Given the description of an element on the screen output the (x, y) to click on. 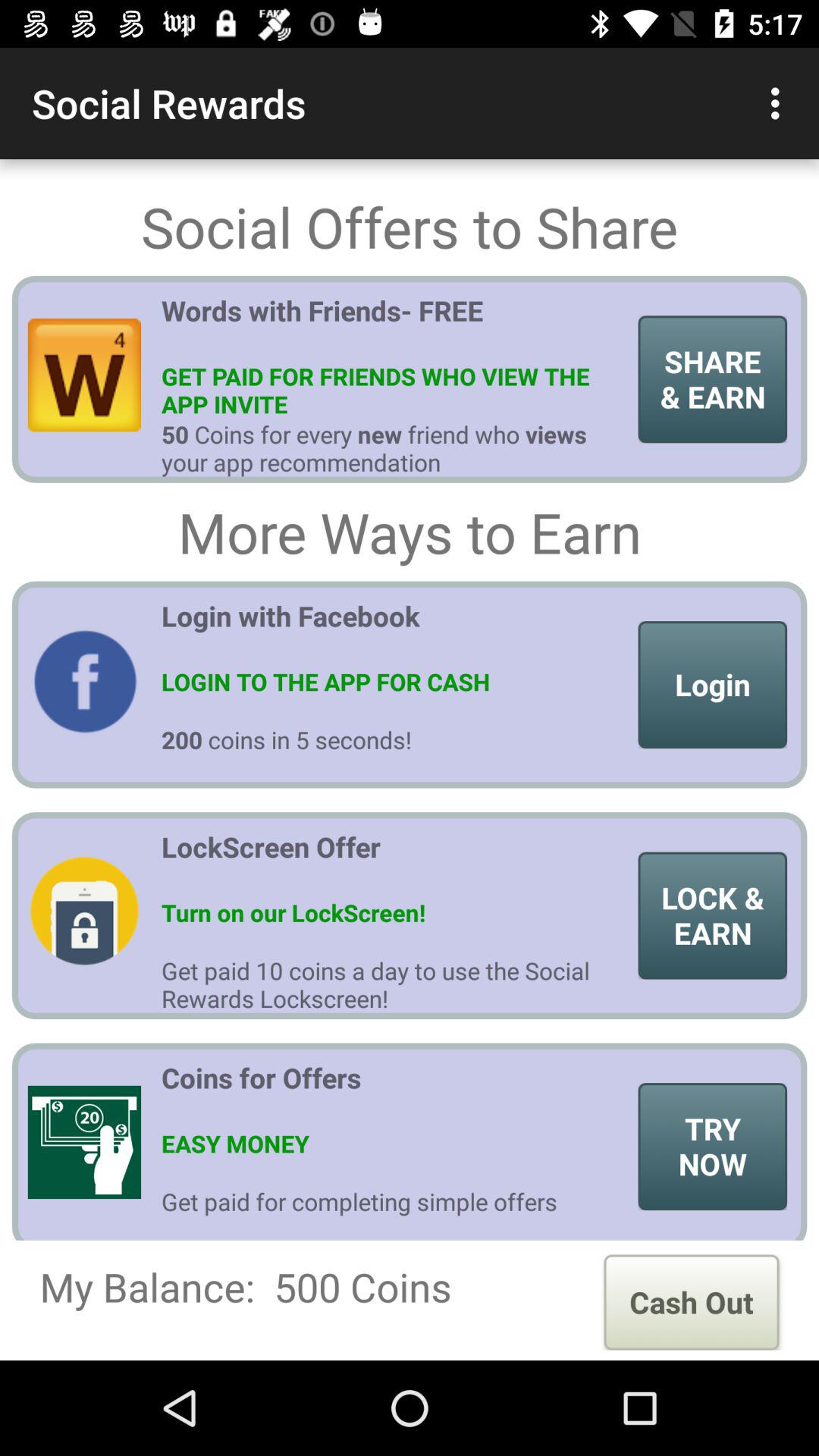
turn off item above the try now item (712, 915)
